Given the description of an element on the screen output the (x, y) to click on. 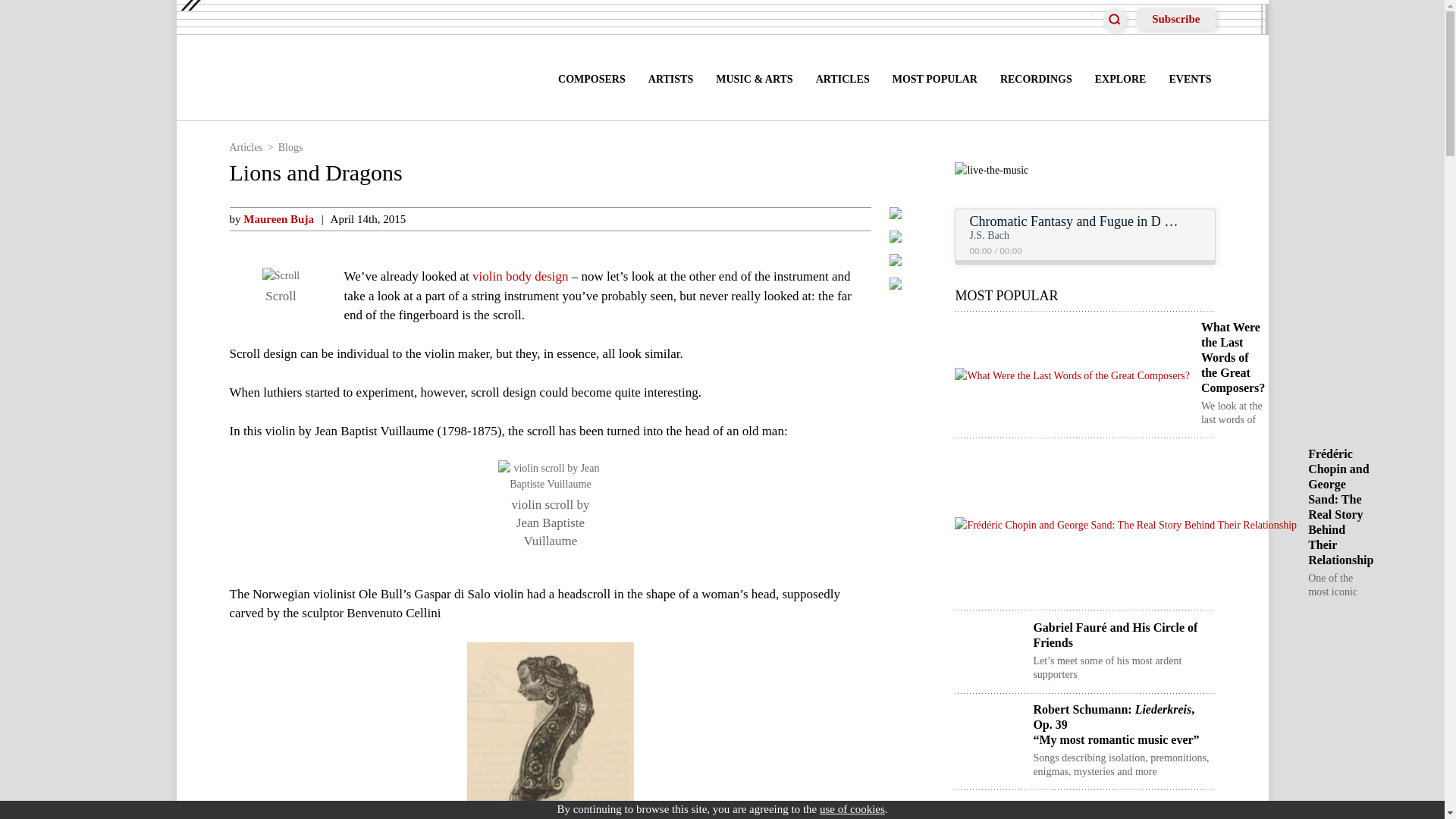
Share this Entry via Email (895, 265)
Tweet this Entry on Twitter (895, 241)
Copy link (895, 288)
Share this Entry on Facebook (895, 217)
